Given the description of an element on the screen output the (x, y) to click on. 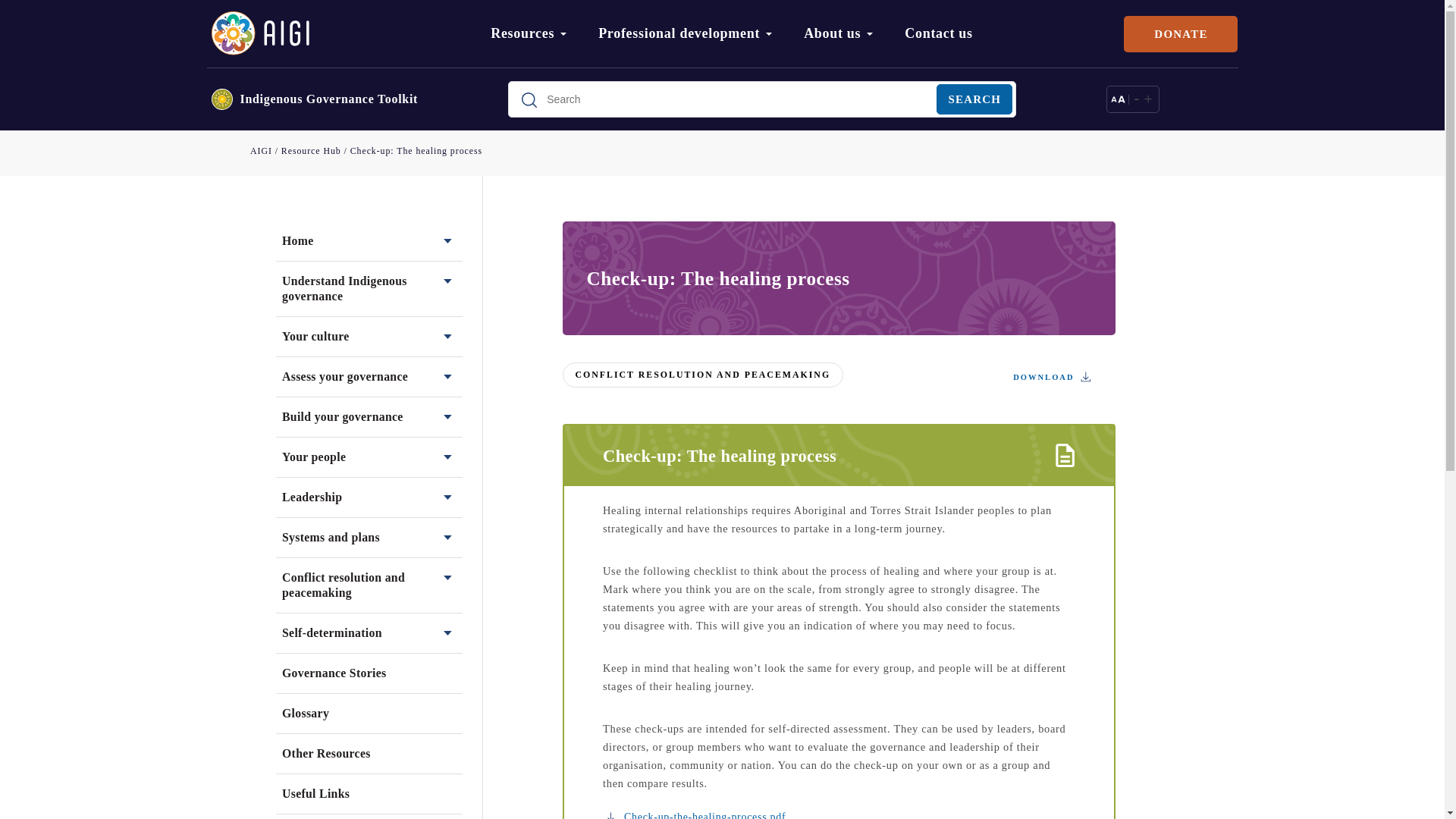
Go to Resource Hub. (310, 150)
Resources (535, 51)
Go to AIGI. (261, 150)
Contact us (945, 51)
Indigenous Governance Toolkit (328, 98)
About us (844, 51)
Professional development (691, 51)
DONATE (1180, 33)
